Given the description of an element on the screen output the (x, y) to click on. 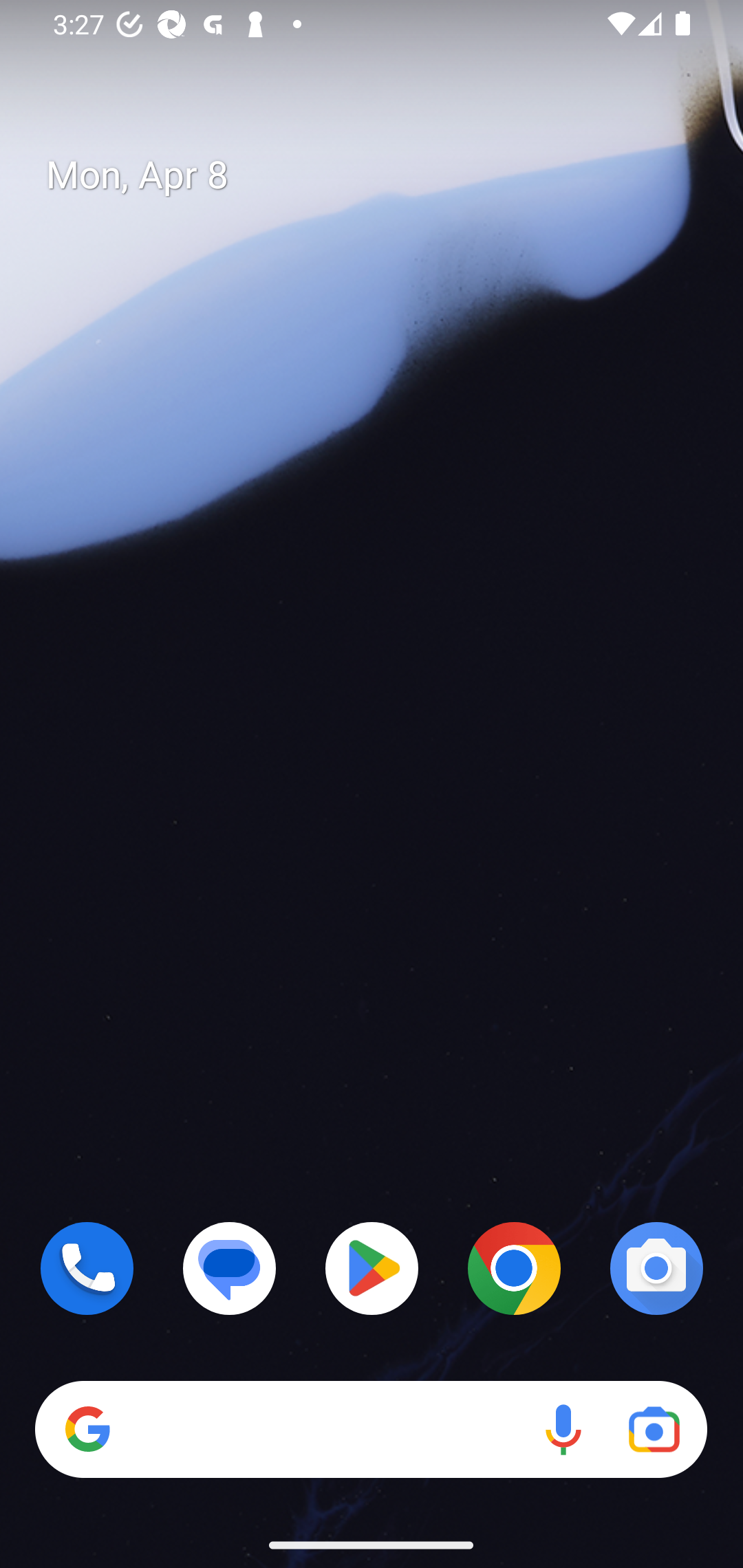
Mon, Apr 8 (386, 175)
Phone (86, 1268)
Messages (229, 1268)
Play Store (371, 1268)
Chrome (513, 1268)
Camera (656, 1268)
Search Voice search Google Lens (370, 1429)
Voice search (562, 1429)
Google Lens (653, 1429)
